Given the description of an element on the screen output the (x, y) to click on. 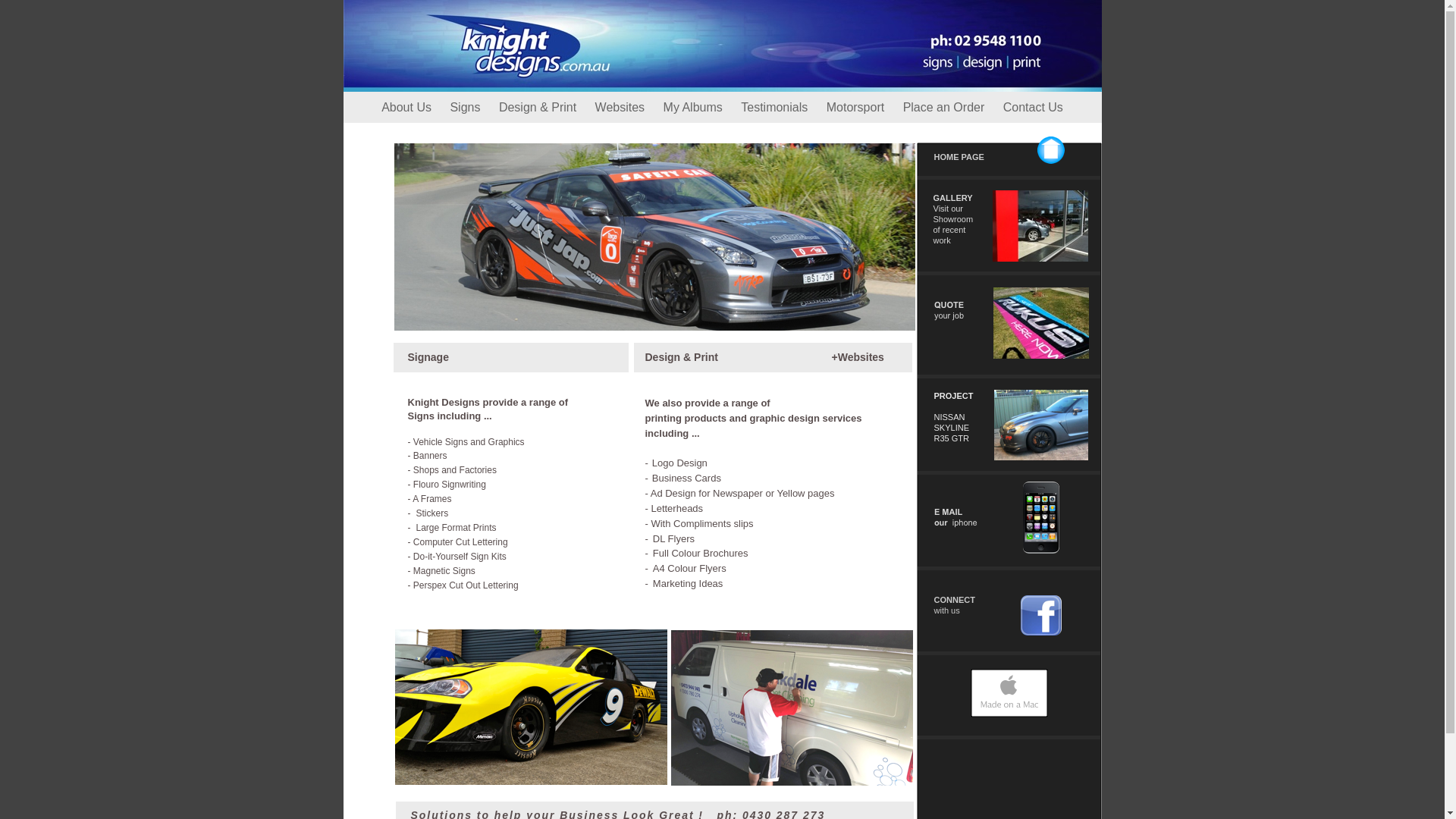
Testimonials Element type: text (775, 106)
GALLERY Element type: text (952, 197)
Motorsport Element type: text (857, 106)
My Albums Element type: text (694, 106)
PROJECT Element type: text (953, 395)
Websites Element type: text (621, 106)
of recent work Element type: text (948, 234)
About Us Element type: text (407, 106)
NISSAN SKYLINE Element type: text (951, 422)
R35 GTR Element type: text (951, 437)
Contact Us Element type: text (1033, 106)
Place an Order Element type: text (945, 106)
Design & Print Element type: text (539, 106)
Showroom Element type: text (952, 218)
Visit our Element type: text (947, 208)
Signs Element type: text (466, 106)
